Given the description of an element on the screen output the (x, y) to click on. 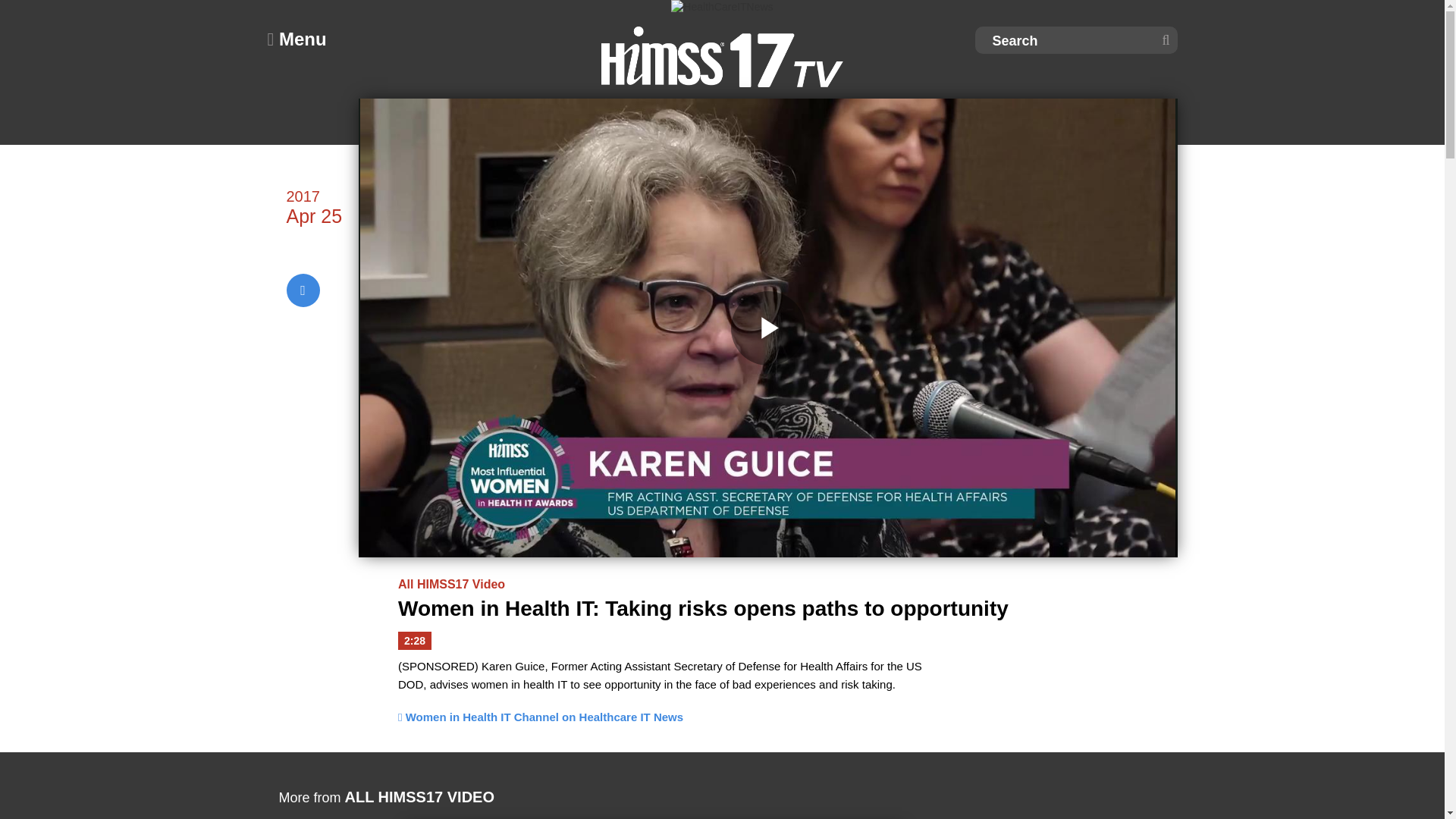
Play Video (767, 328)
Menu (296, 39)
Women in Health IT Channel on Healthcare IT News (539, 716)
Women in Health IT Channel on Healthcare IT News  (539, 716)
Play Video (767, 328)
